Given the description of an element on the screen output the (x, y) to click on. 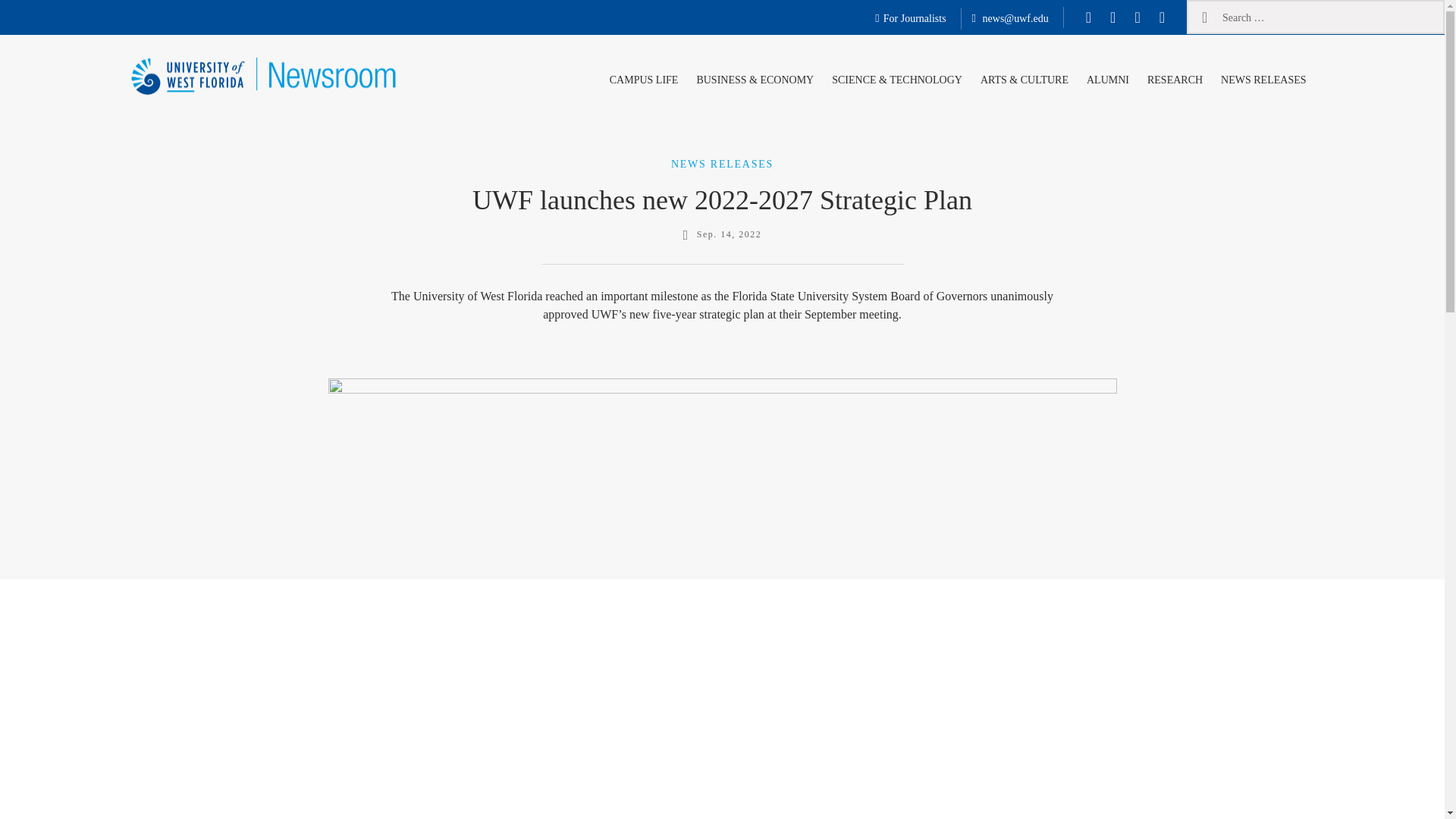
NEWS RELEASES (722, 163)
Connect with us on Linkedin (1161, 17)
For Journalists (909, 19)
NEWS RELEASES (1262, 77)
RESEARCH (1174, 77)
For Journalists (909, 19)
CAMPUS LIFE (643, 77)
Follow us on Instagram (1136, 17)
Find us on Facebook (1088, 17)
ALUMNI (1107, 77)
